Given the description of an element on the screen output the (x, y) to click on. 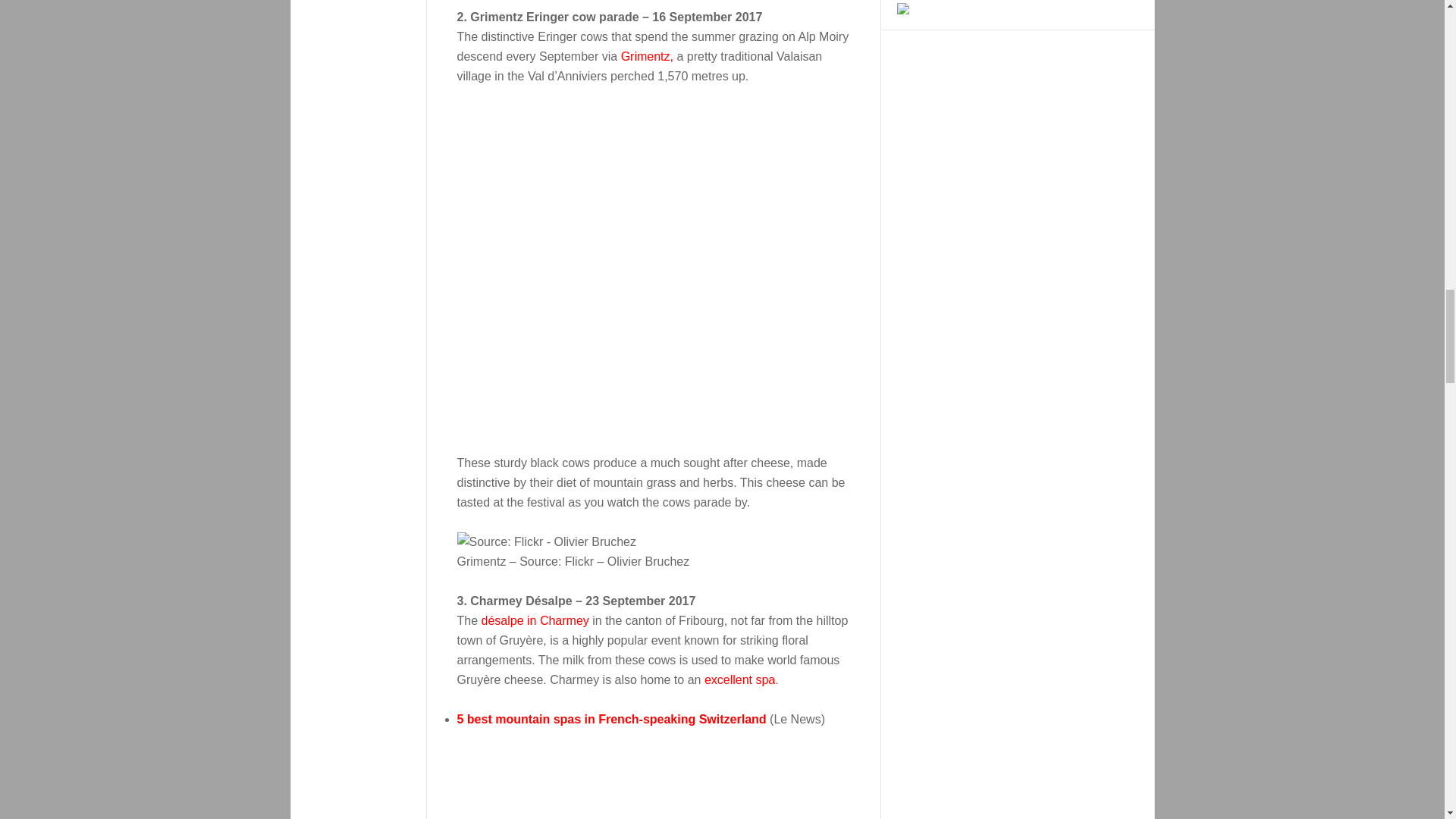
Grimentz, (646, 56)
